Given the description of an element on the screen output the (x, y) to click on. 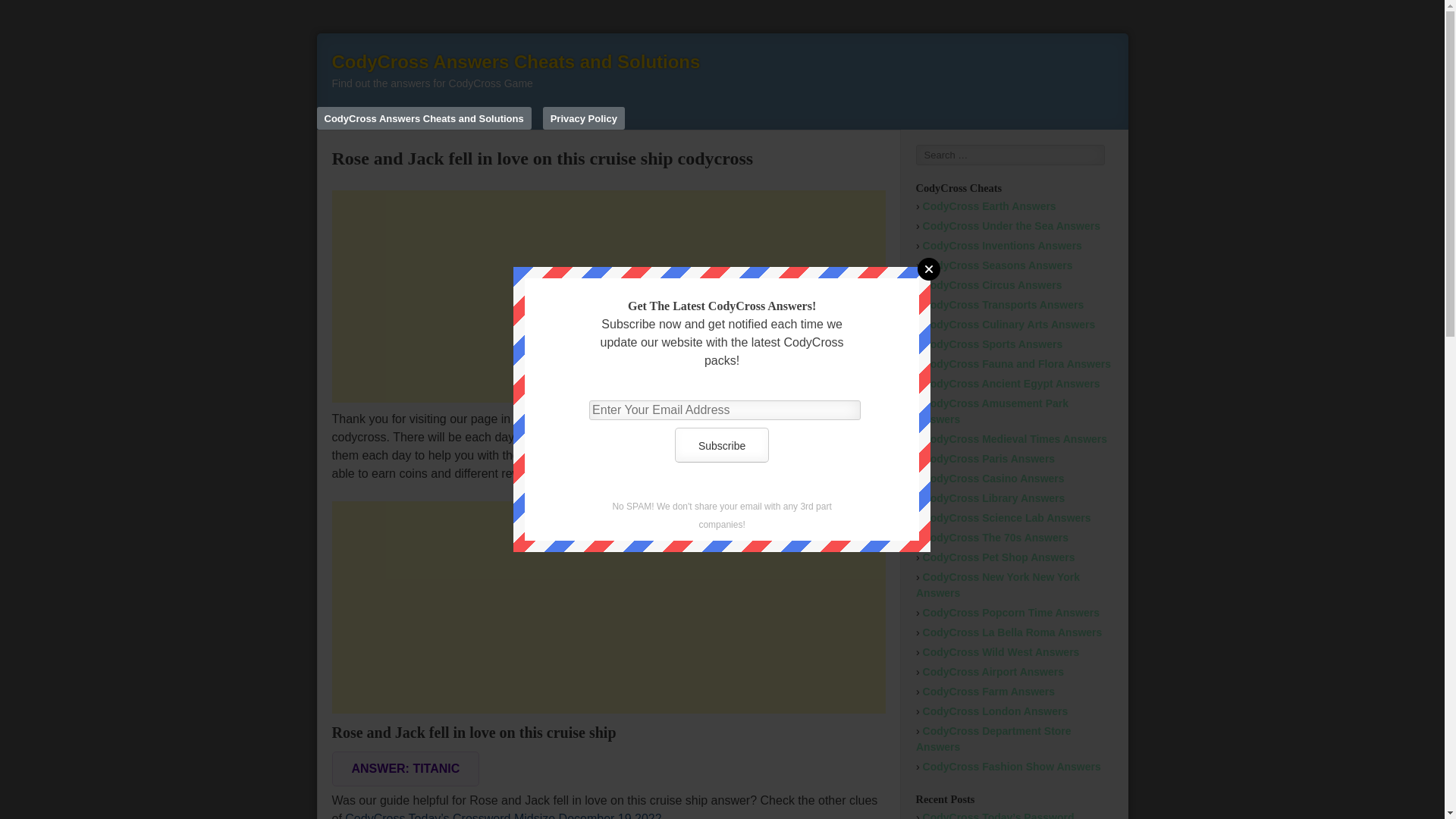
CodyCross Answers Cheats and Solutions (515, 61)
CodyCross Under the Sea Answers (1011, 225)
CodyCross Library Answers (994, 498)
CodyCross Paris Answers (989, 458)
CodyCross Earth Answers (990, 205)
CodyCross Science Lab Answers (1006, 517)
Privacy Policy (583, 118)
CodyCross Inventions Answers (1002, 245)
Search (33, 17)
CodyCross New York New York Answers (997, 584)
